Given the description of an element on the screen output the (x, y) to click on. 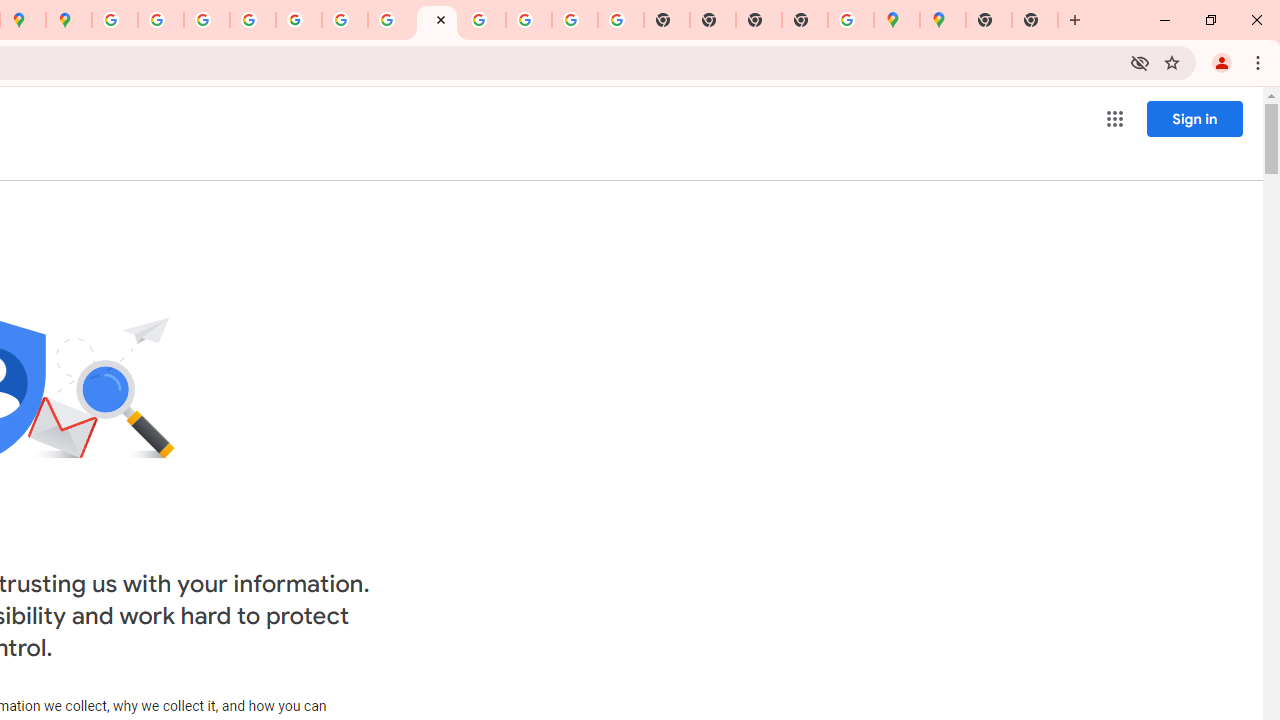
Use Google Maps in Space - Google Maps Help (851, 20)
Privacy Help Center - Policies Help (161, 20)
Policy Accountability and Transparency - Transparency Center (115, 20)
New Tab (805, 20)
Privacy Help Center - Policies Help (207, 20)
YouTube (345, 20)
